Given the description of an element on the screen output the (x, y) to click on. 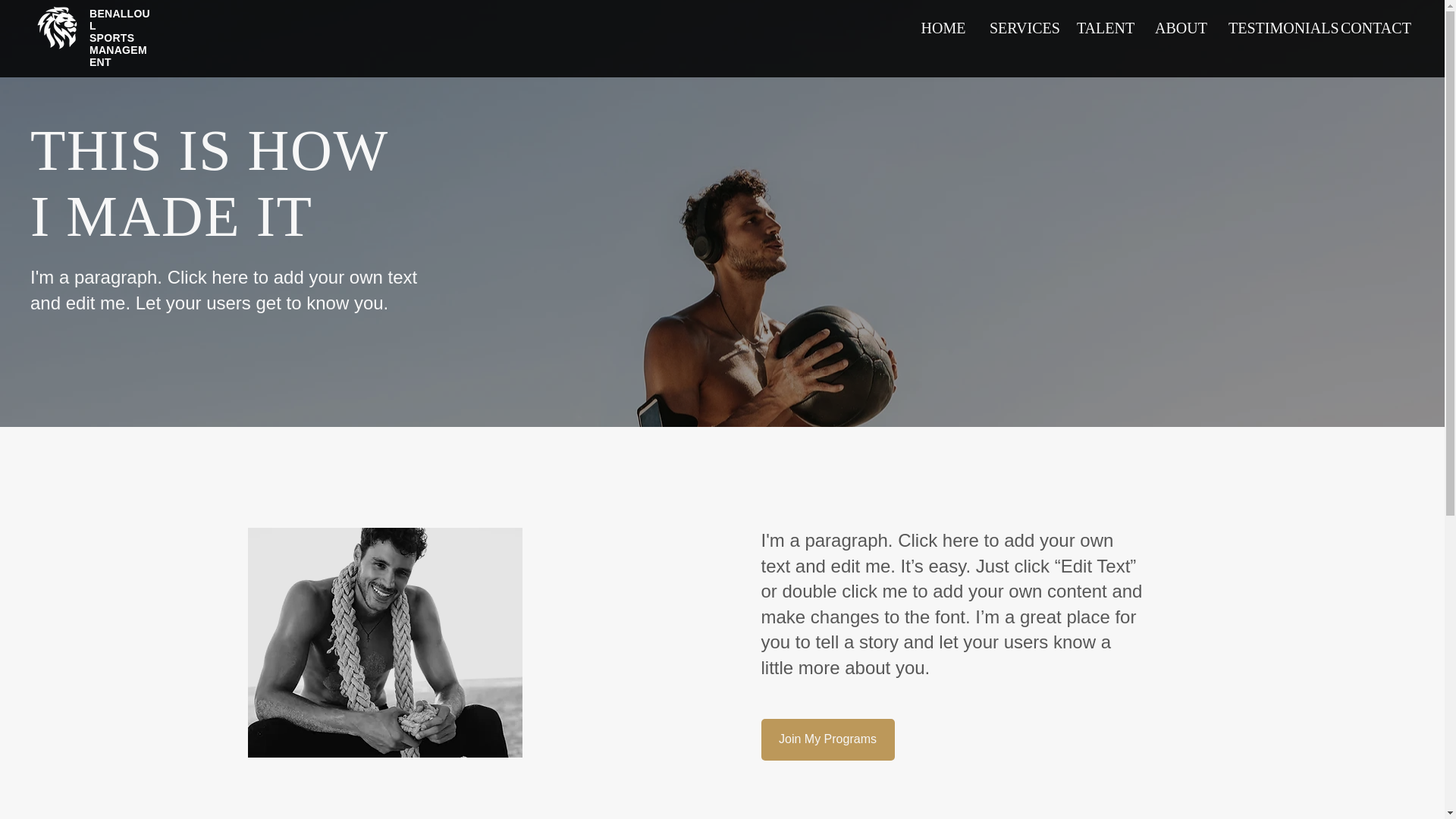
TESTIMONIALS (1271, 27)
HOME (942, 27)
SERVICES (1020, 27)
Join My Programs (828, 739)
TALENT (1103, 27)
CONTACT (1371, 27)
ABOUT (1178, 27)
